Given the description of an element on the screen output the (x, y) to click on. 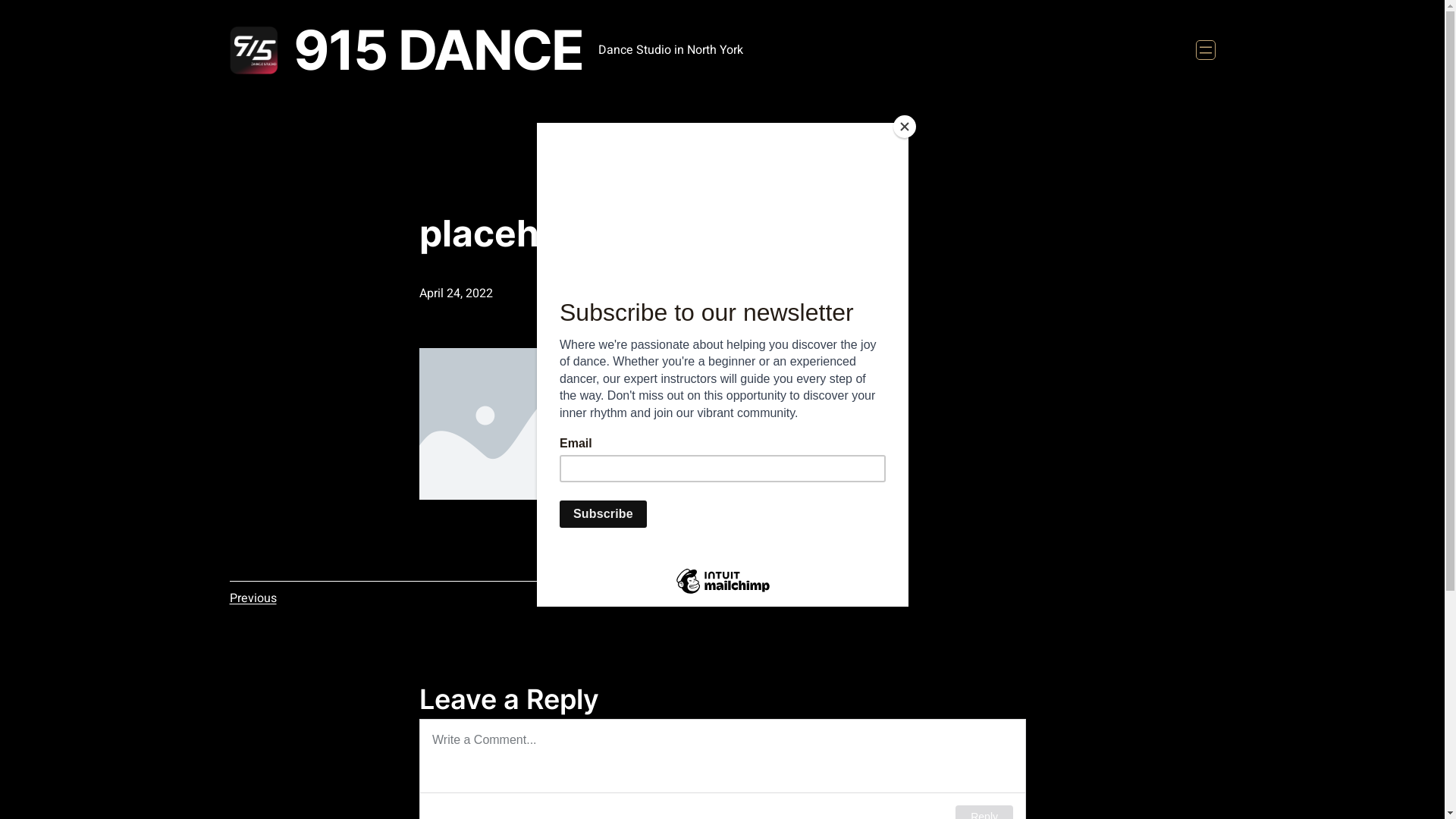
April 24, 2022 Element type: text (455, 293)
Previous Element type: text (252, 598)
915 DANCE Element type: text (437, 49)
